Given the description of an element on the screen output the (x, y) to click on. 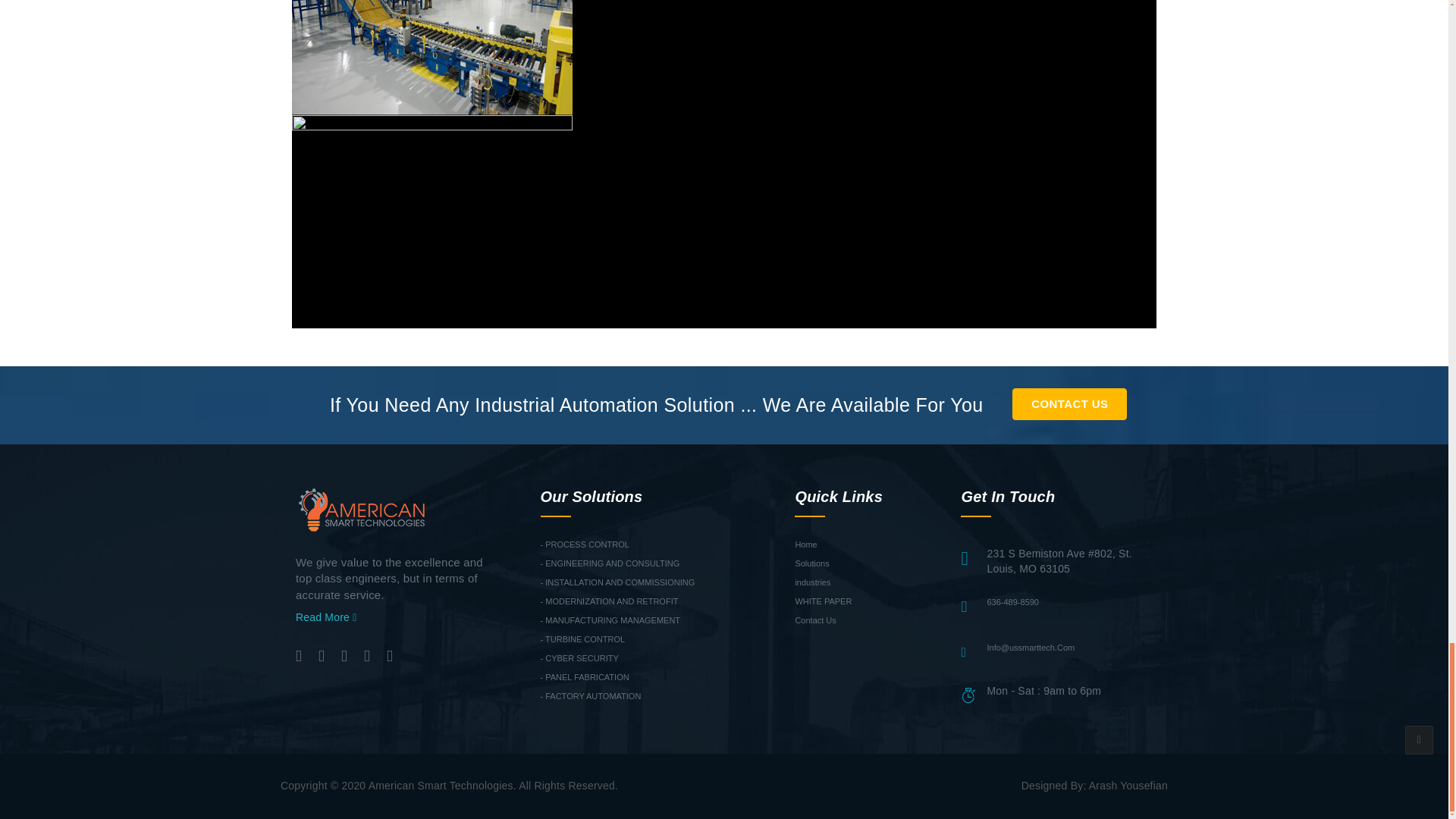
CONTACT US (1068, 404)
Read More (325, 616)
- ENGINEERING AND CONSULTING (609, 563)
Home (805, 543)
- FACTORY AUTOMATION (590, 696)
Solutions (811, 563)
- MODERNIZATION AND RETROFIT (609, 601)
- PROCESS CONTROL (584, 543)
- CYBER SECURITY (578, 657)
AMERICAN SMART TECHNOLOGY (361, 508)
